Given the description of an element on the screen output the (x, y) to click on. 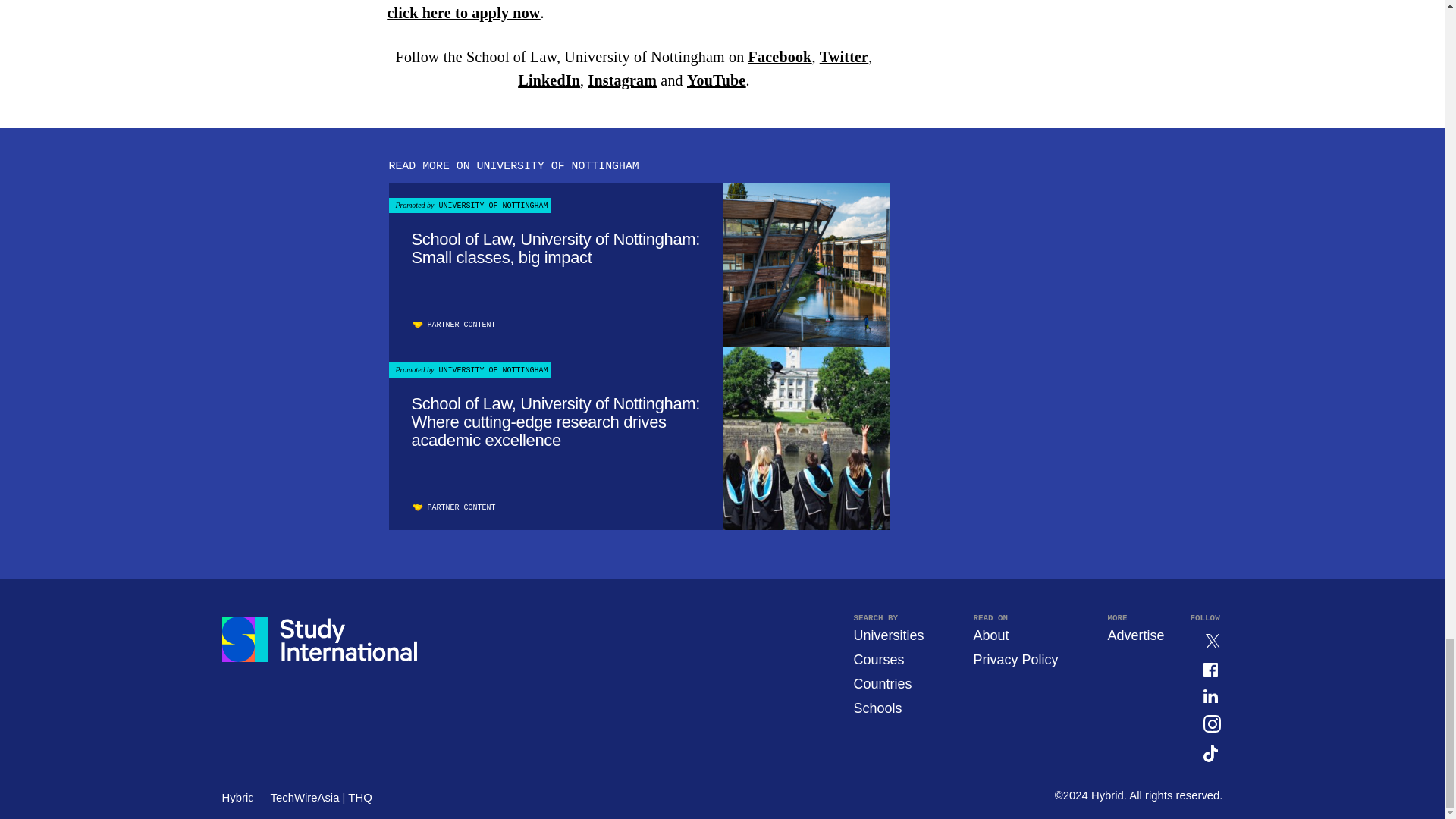
LinkedIn (548, 80)
YouTube (716, 80)
click here to apply now (463, 12)
Facebook (780, 56)
Twitter (843, 56)
Instagram (622, 80)
